Given the description of an element on the screen output the (x, y) to click on. 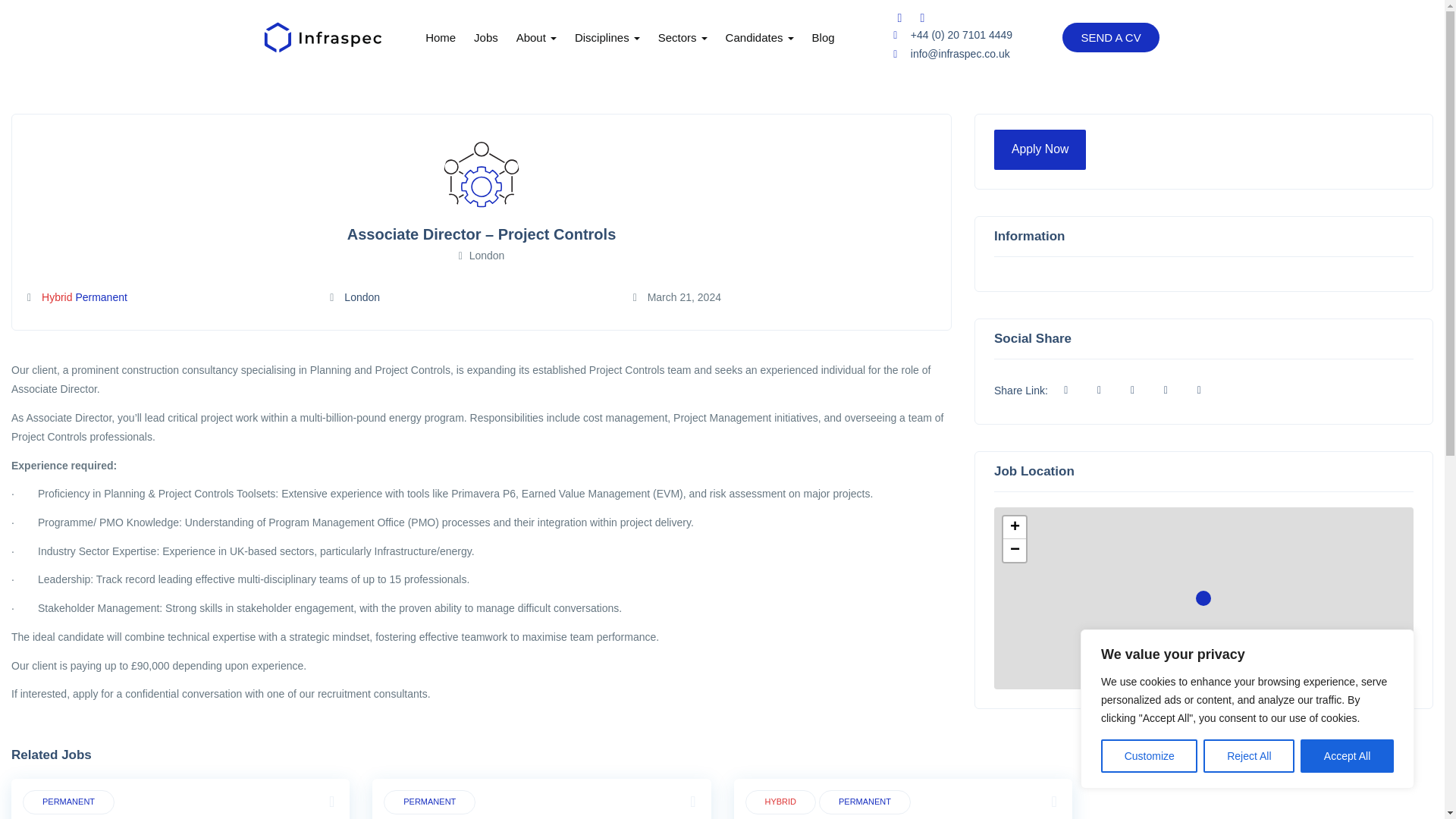
Zoom out (1014, 549)
A JS library for interactive maps (1211, 682)
Zoom in (1014, 527)
